Given the description of an element on the screen output the (x, y) to click on. 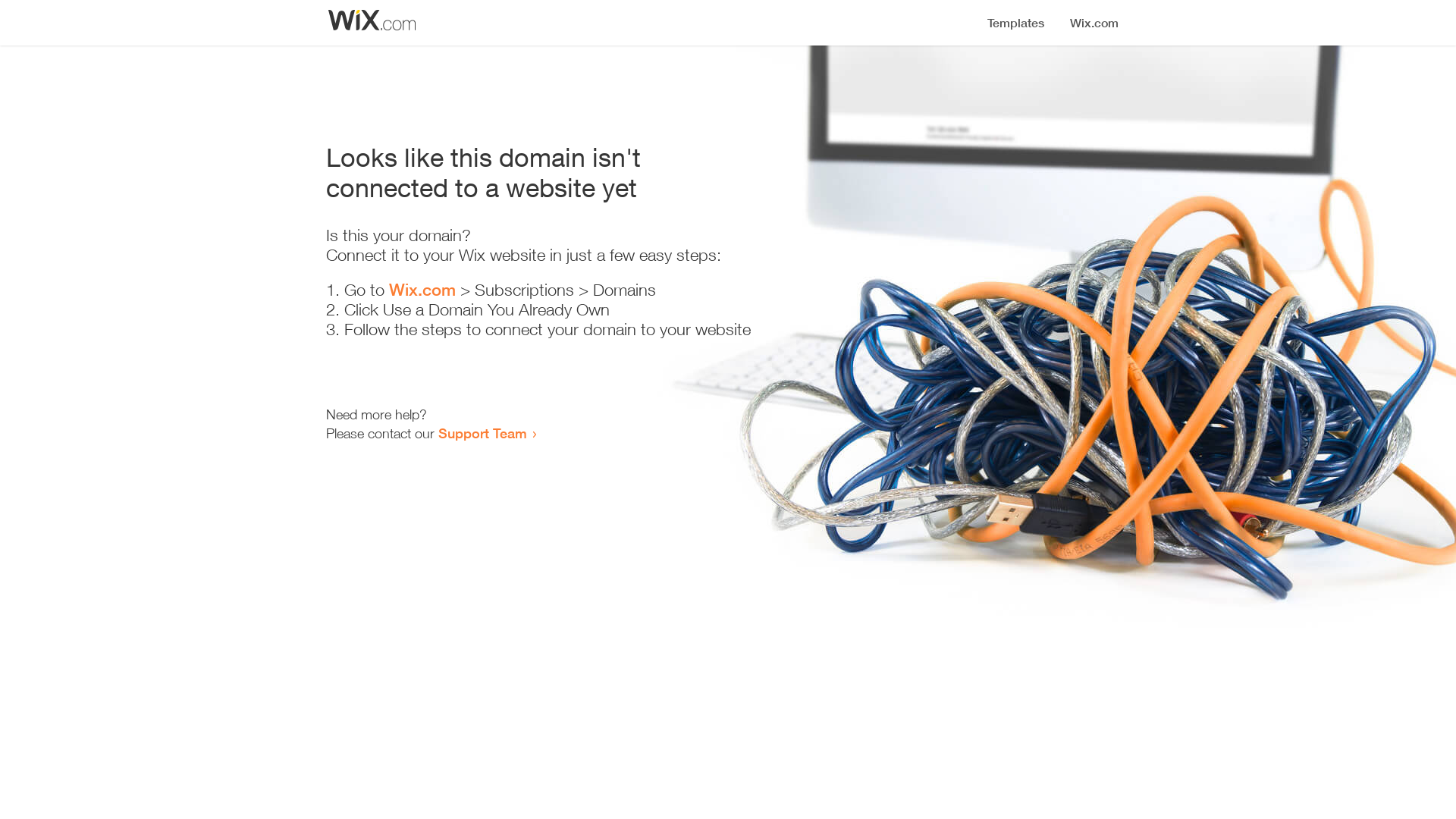
Wix.com Element type: text (422, 289)
Support Team Element type: text (482, 432)
